Given the description of an element on the screen output the (x, y) to click on. 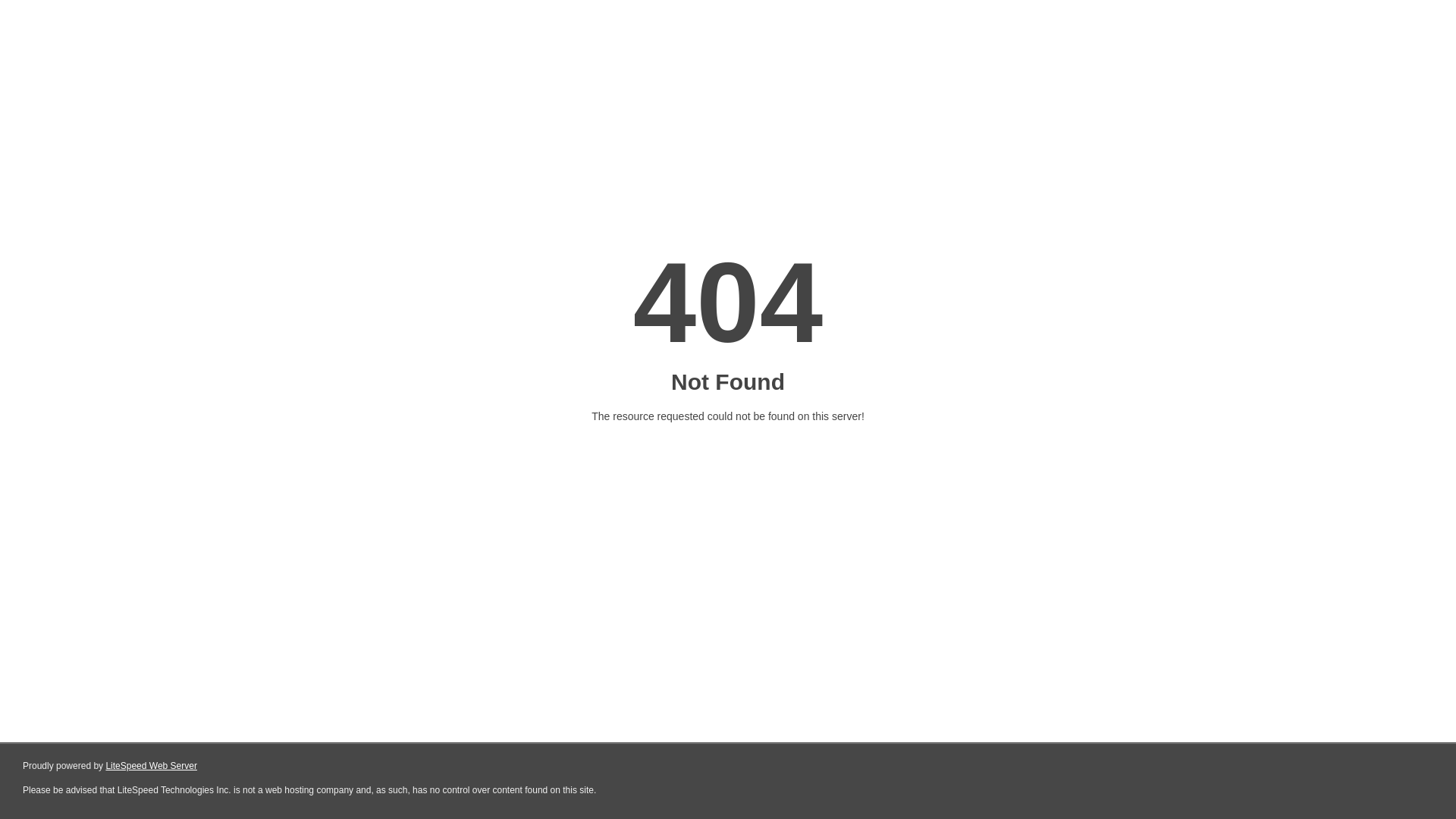
LiteSpeed Web Server Element type: text (151, 765)
